Given the description of an element on the screen output the (x, y) to click on. 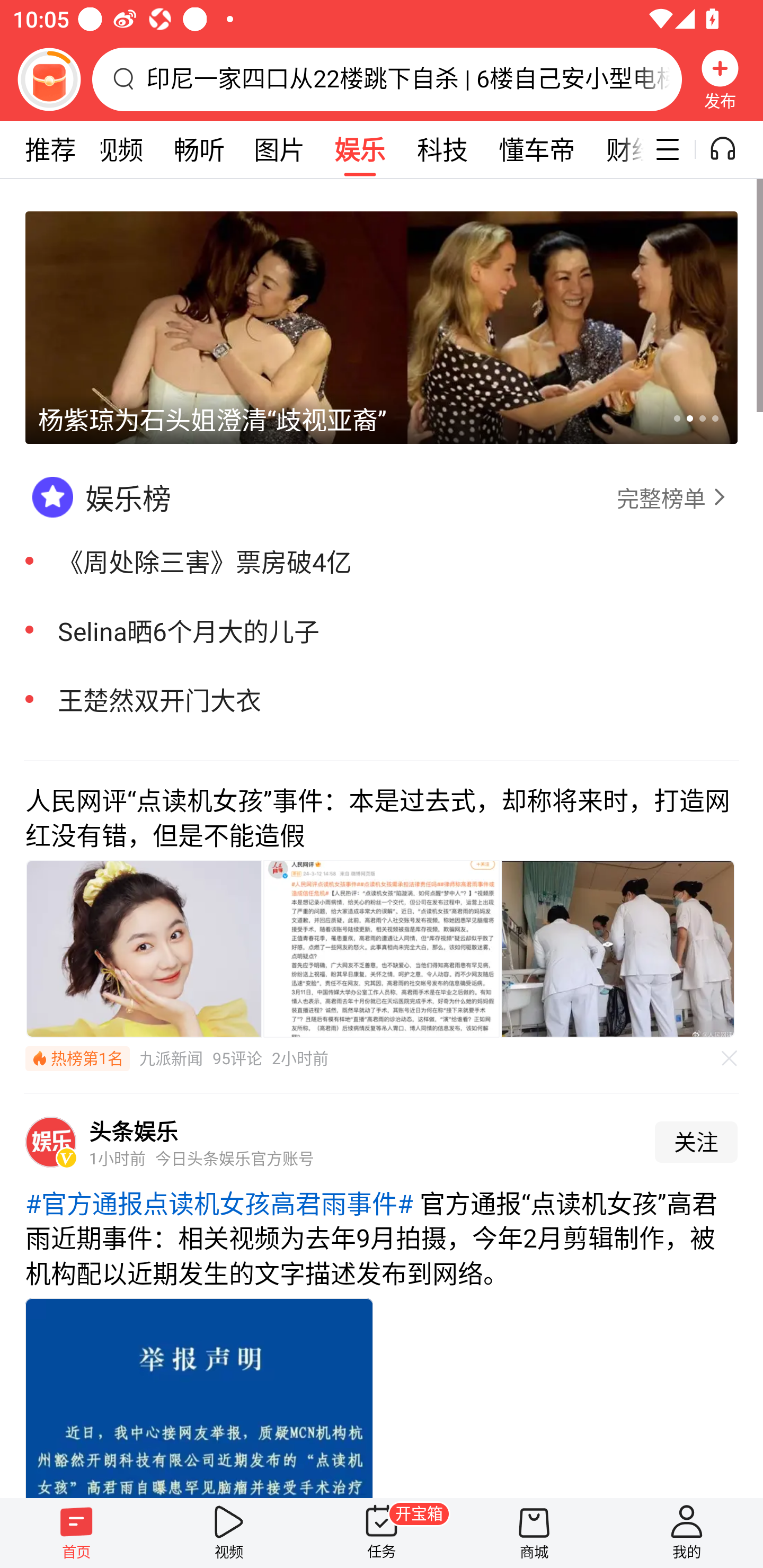
阅读赚金币 (48, 79)
发布 发布，按钮 (720, 78)
推荐 (49, 149)
畅听 (199, 149)
图片 (279, 149)
娱乐 (359, 149)
科技 (442, 149)
懂车帝 (536, 149)
听一听开关 (732, 149)
内容图片 (143, 948)
内容图片 (381, 948)
内容图片 (617, 948)
不感兴趣 (729, 1058)
头条娱乐 (133, 1131)
头条娱乐头像 (50, 1142)
关注 (695, 1142)
首页 (76, 1532)
视频 (228, 1532)
任务 开宝箱 (381, 1532)
商城 (533, 1532)
我的 (686, 1532)
